Given the description of an element on the screen output the (x, y) to click on. 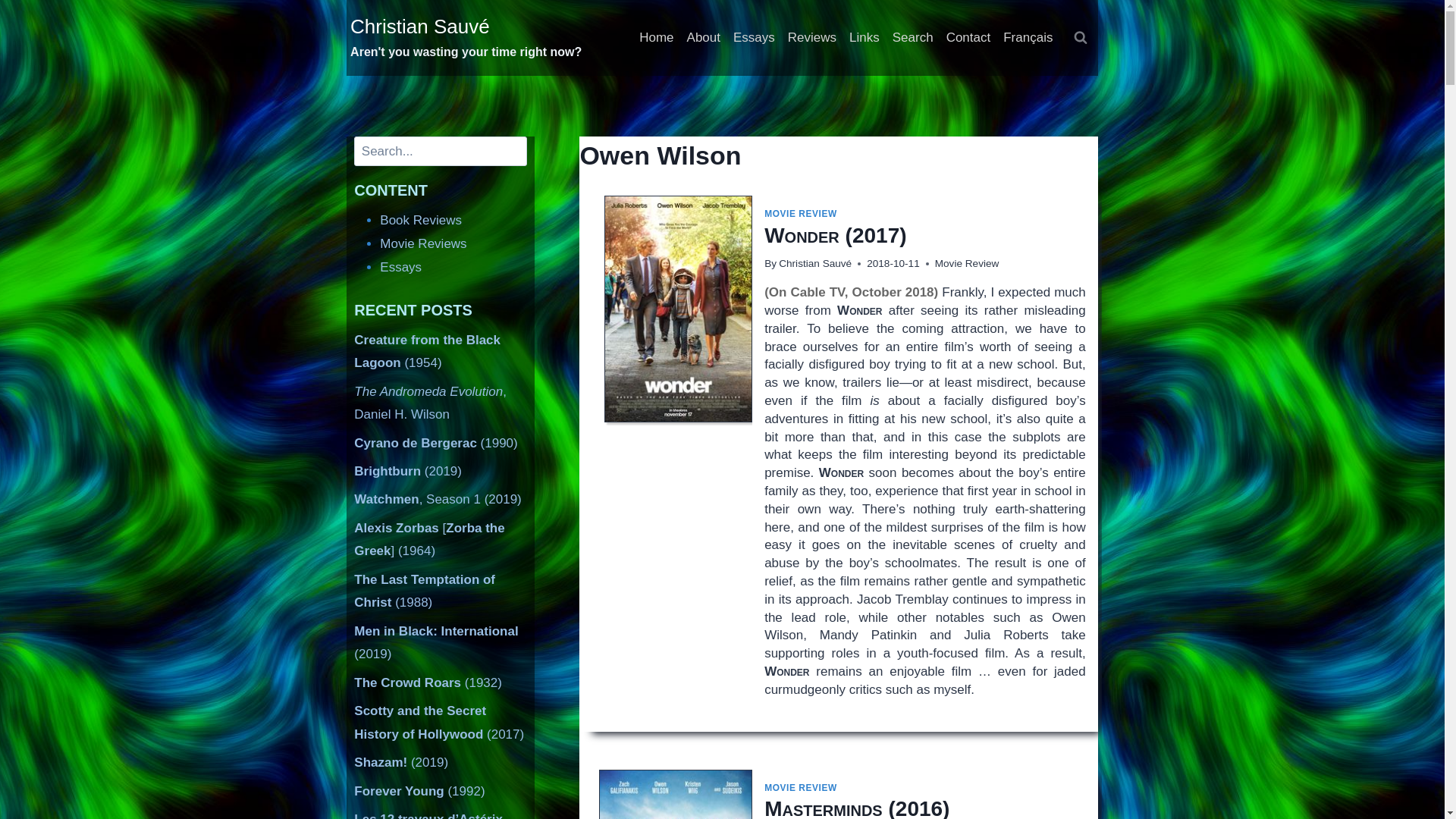
Search (912, 38)
About (702, 38)
Contact (968, 38)
Reviews (811, 38)
Movie Review (966, 263)
MOVIE REVIEW (800, 787)
Home (656, 38)
MOVIE REVIEW (800, 213)
Essays (753, 38)
Links (864, 38)
